Given the description of an element on the screen output the (x, y) to click on. 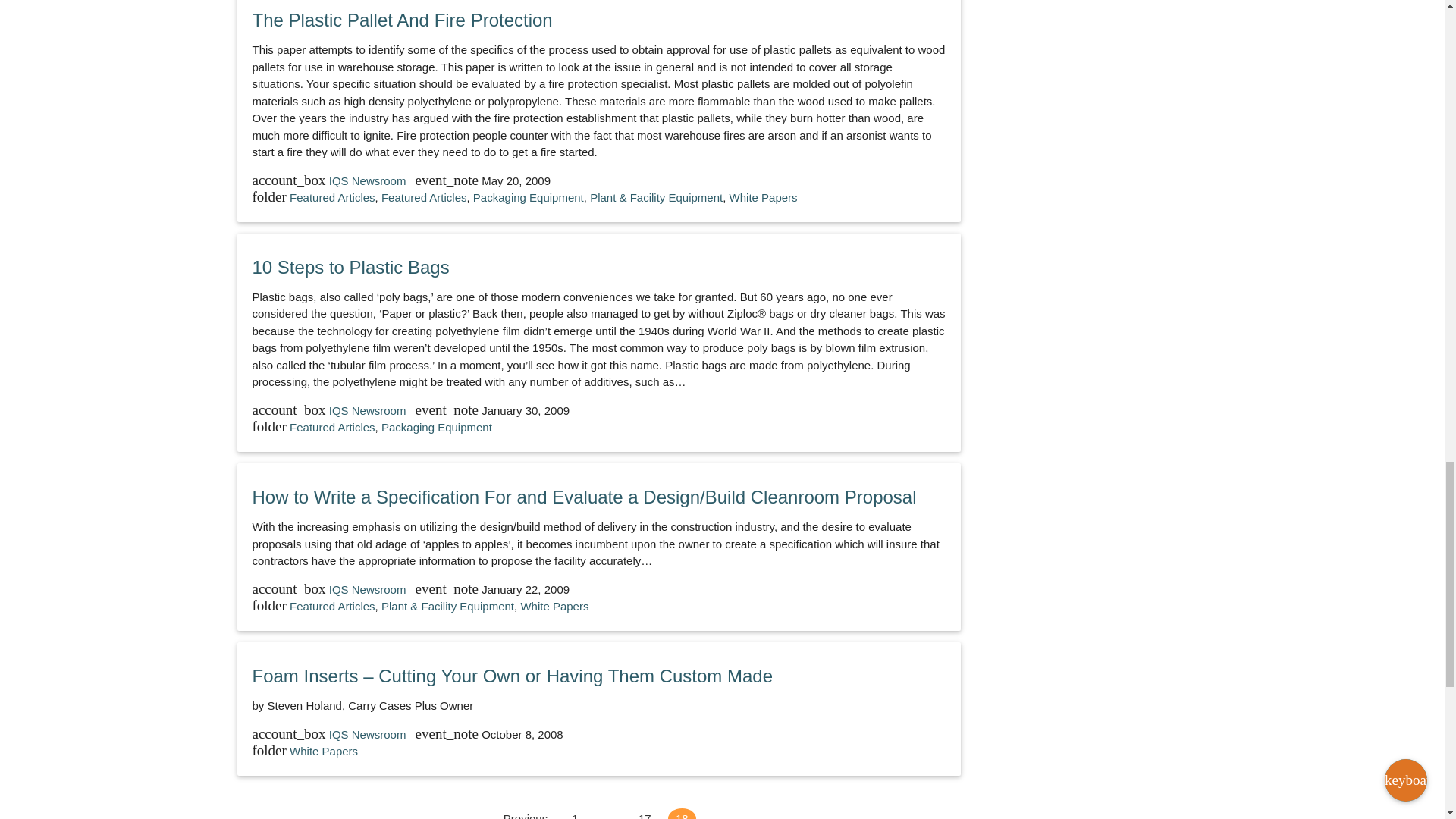
Featured Articles (424, 196)
Featured Articles (332, 196)
The Plastic Pallet And Fire Protection (401, 19)
IQS Newsroom (369, 180)
